Given the description of an element on the screen output the (x, y) to click on. 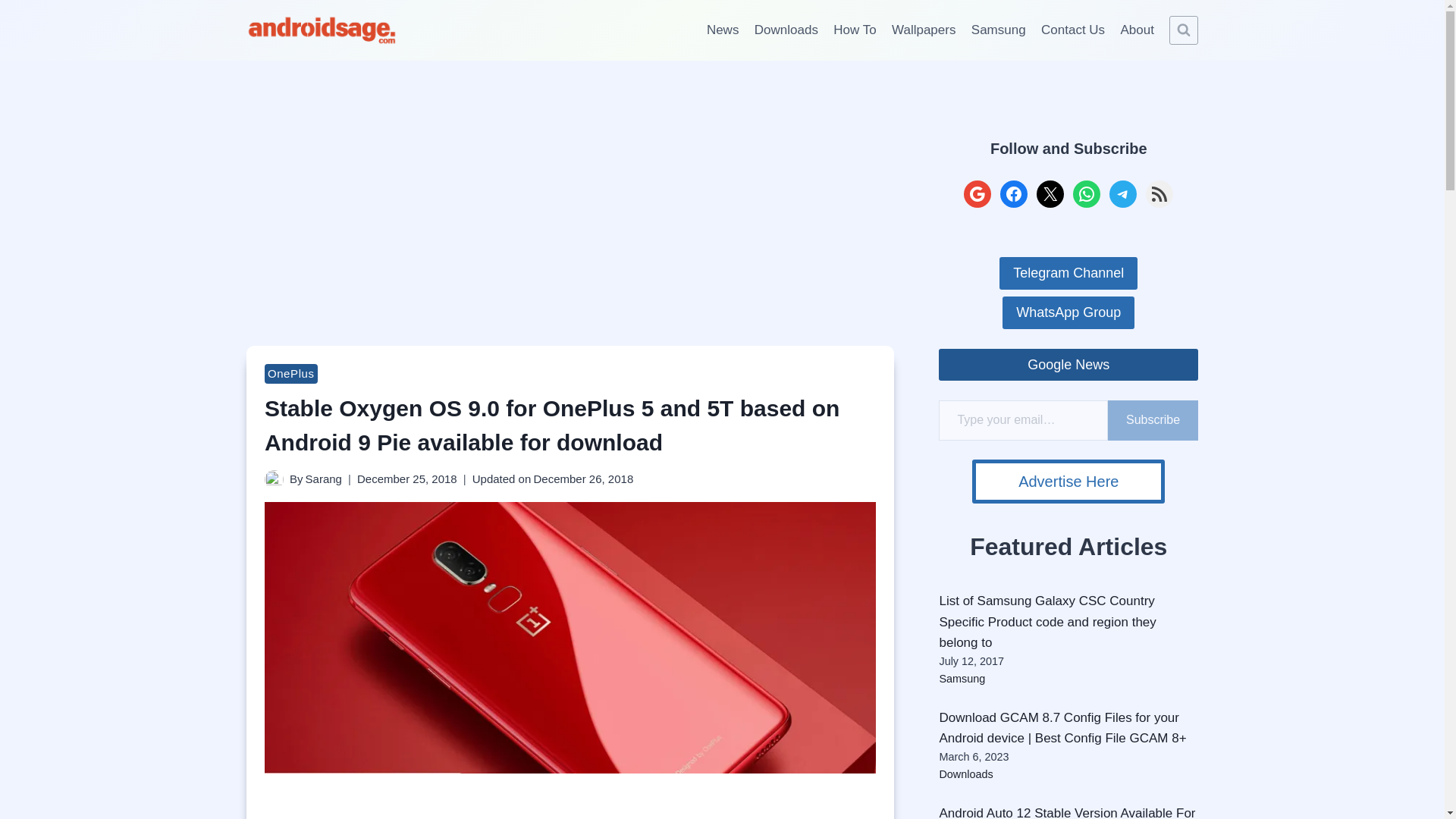
Contact Us (1072, 30)
Sarang (323, 478)
News (722, 30)
Wallpapers (923, 30)
Advertisement (570, 808)
Samsung (998, 30)
OnePlus (290, 373)
About (1136, 30)
